Given the description of an element on the screen output the (x, y) to click on. 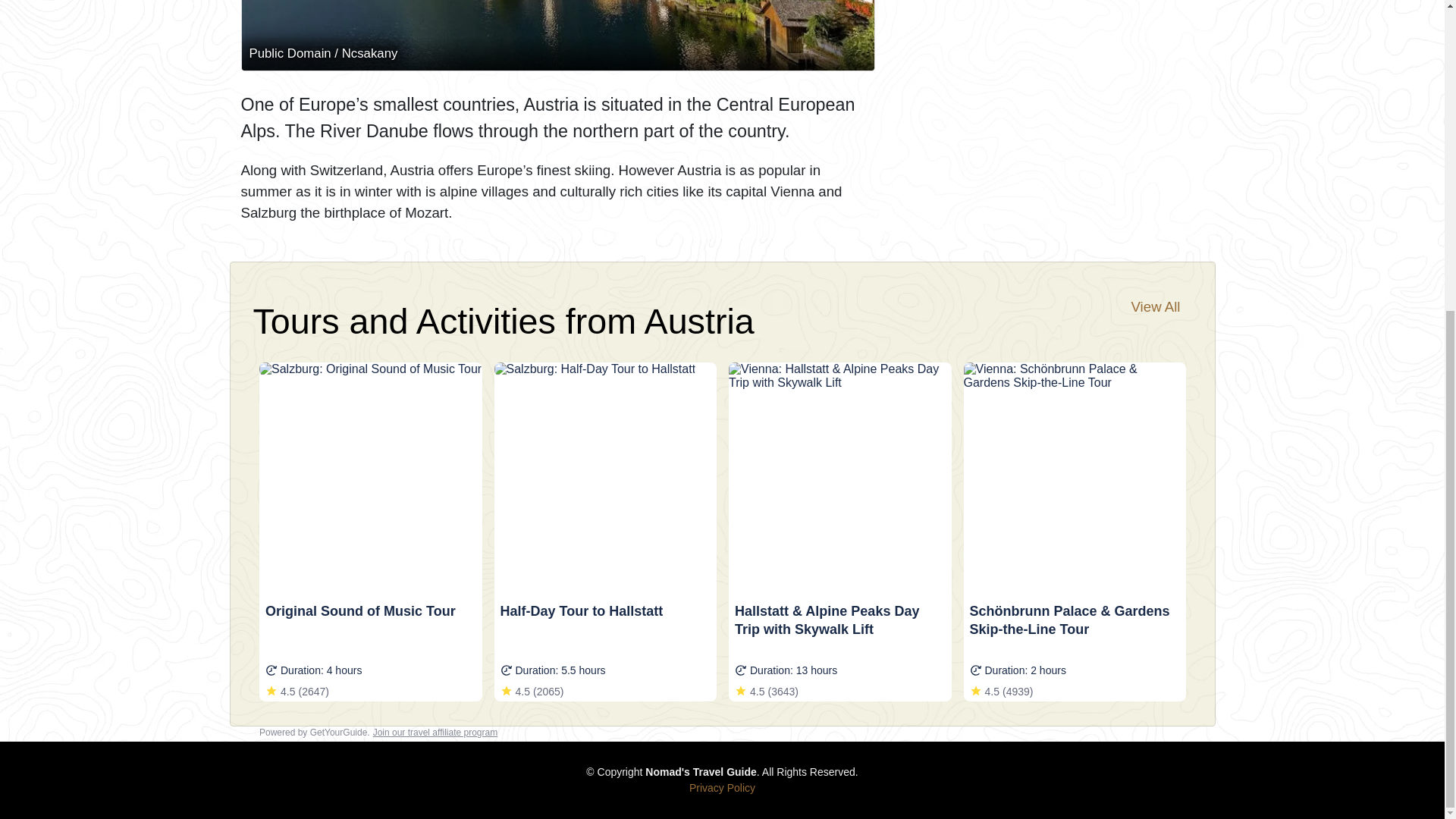
View All (1155, 306)
Privacy Policy (721, 787)
